Given the description of an element on the screen output the (x, y) to click on. 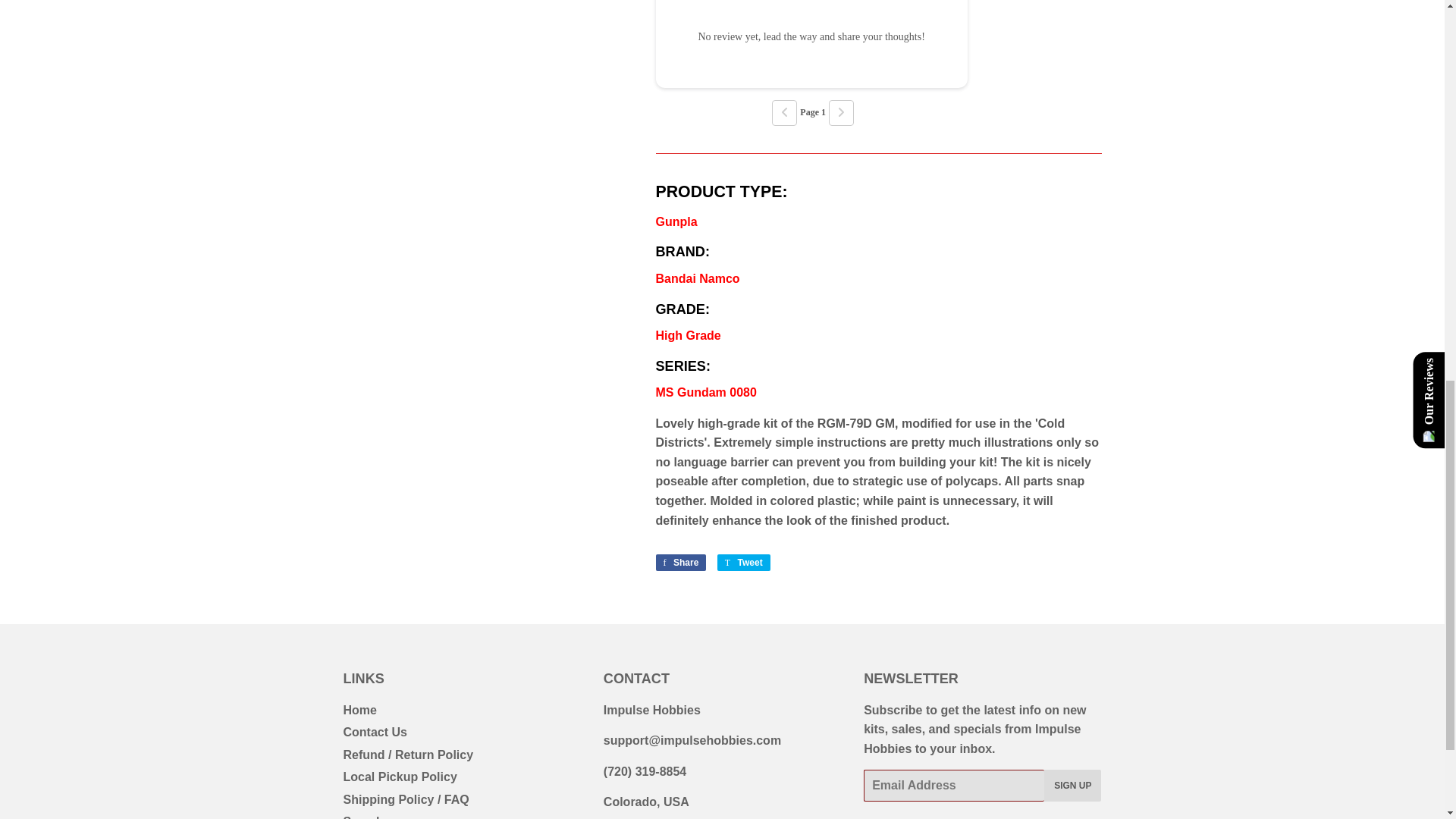
Share on Facebook (680, 562)
UC Kits (705, 391)
Bandai Namco Kits (697, 278)
Gunpla Kits (676, 221)
High Grade Kits (687, 335)
Tweet on Twitter (743, 562)
